Given the description of an element on the screen output the (x, y) to click on. 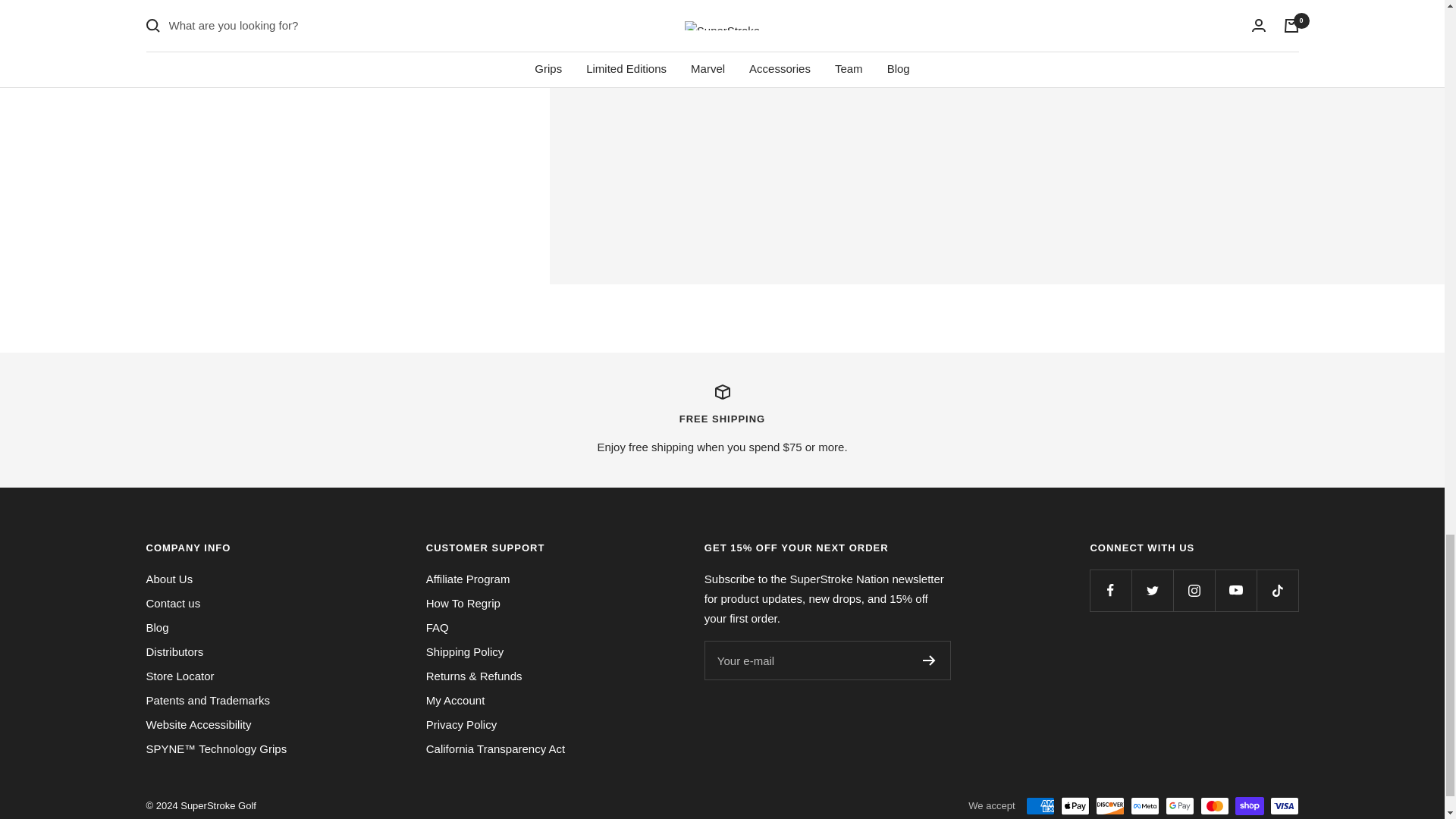
Register (929, 660)
